Given the description of an element on the screen output the (x, y) to click on. 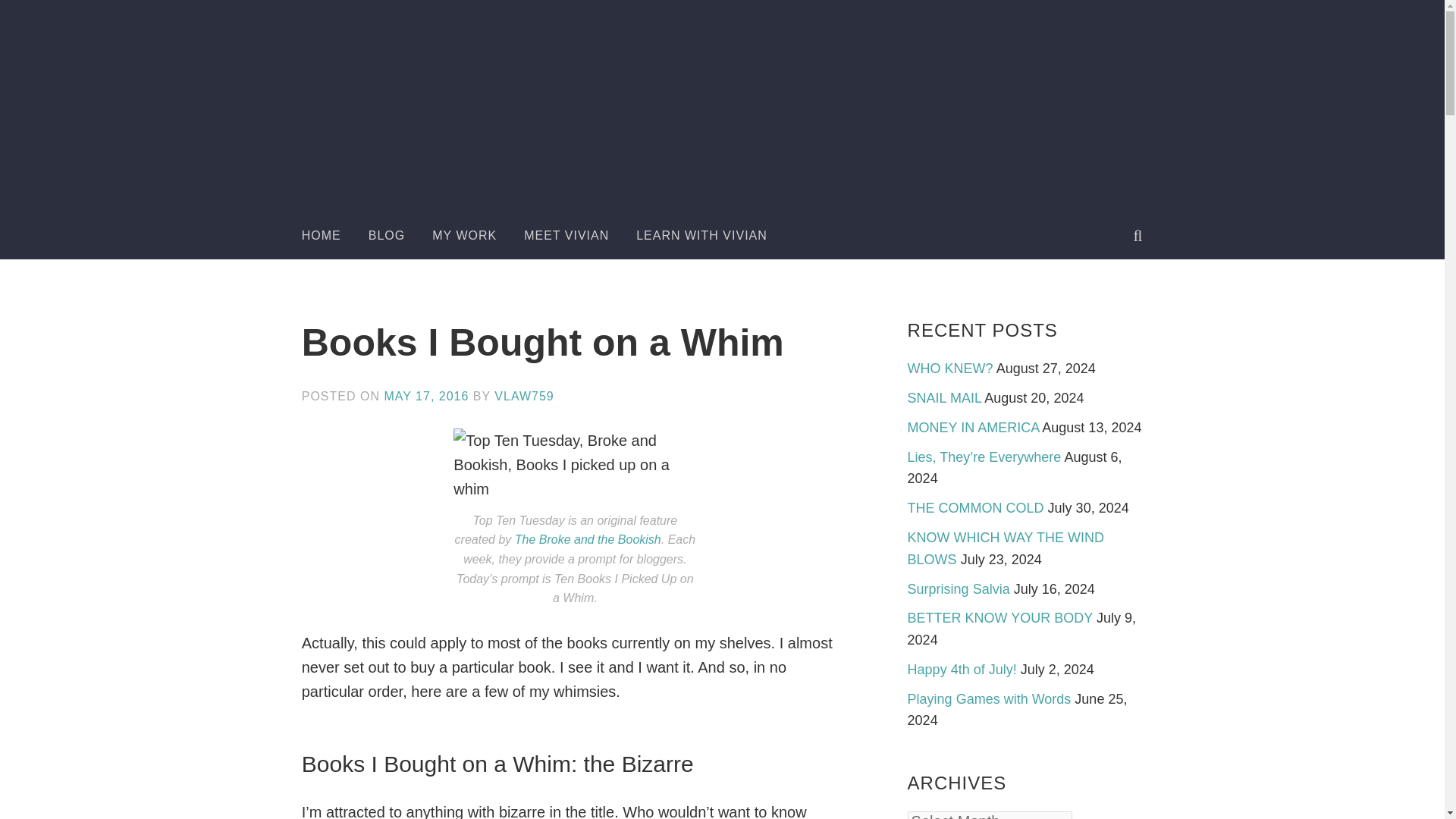
The Broke and the Bookish (588, 539)
Vivian Lawry (783, 159)
MEET VIVIAN (566, 235)
MAY 17, 2016 (426, 395)
LEARN WITH VIVIAN (701, 235)
MY WORK (464, 235)
VLAW759 (524, 395)
